Given the description of an element on the screen output the (x, y) to click on. 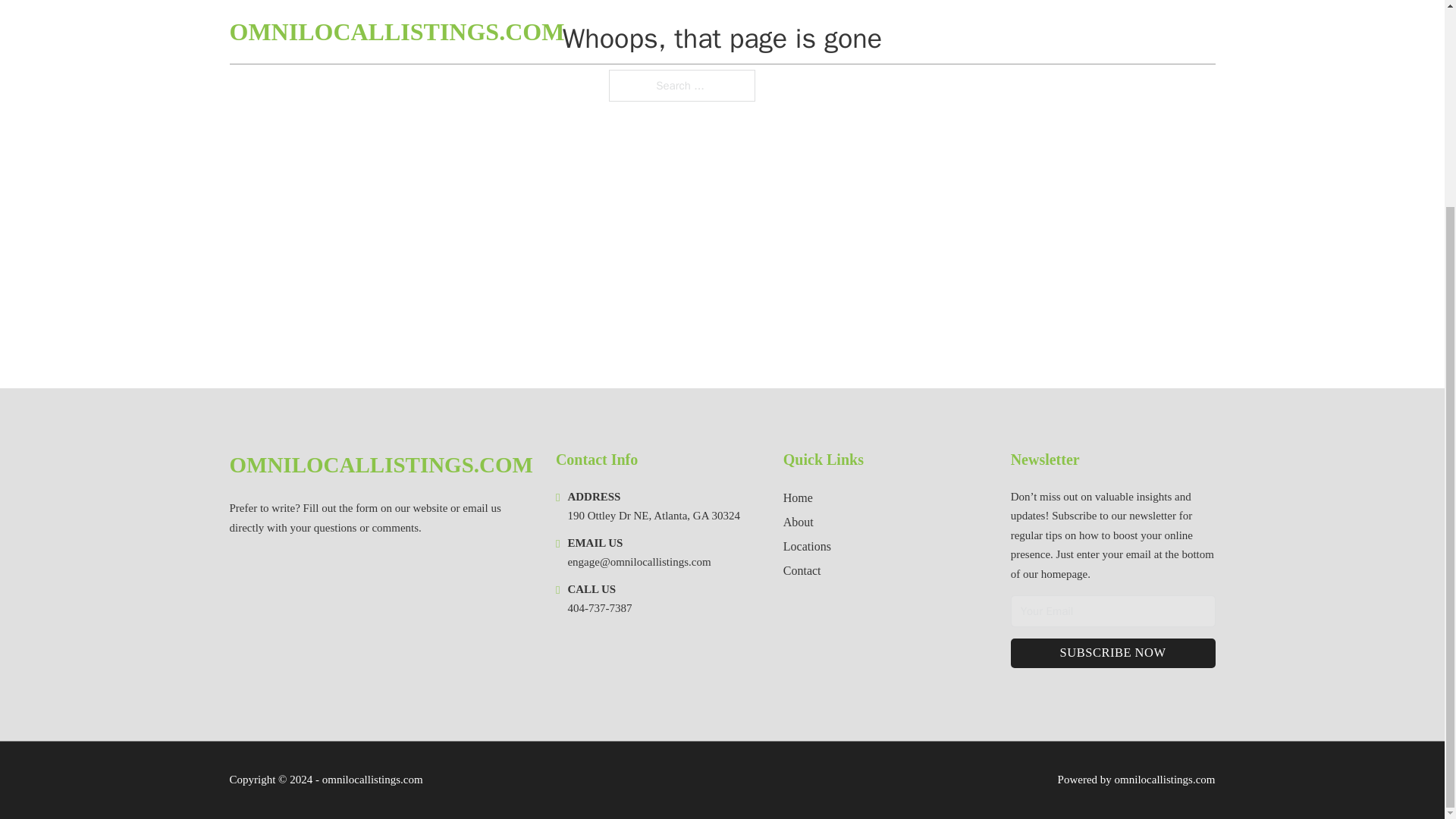
404-737-7387 (599, 607)
SUBSCRIBE NOW (1112, 653)
Contact (802, 570)
Home (797, 497)
Locations (807, 546)
About (798, 521)
OMNILOCALLISTINGS.COM (380, 465)
